Given the description of an element on the screen output the (x, y) to click on. 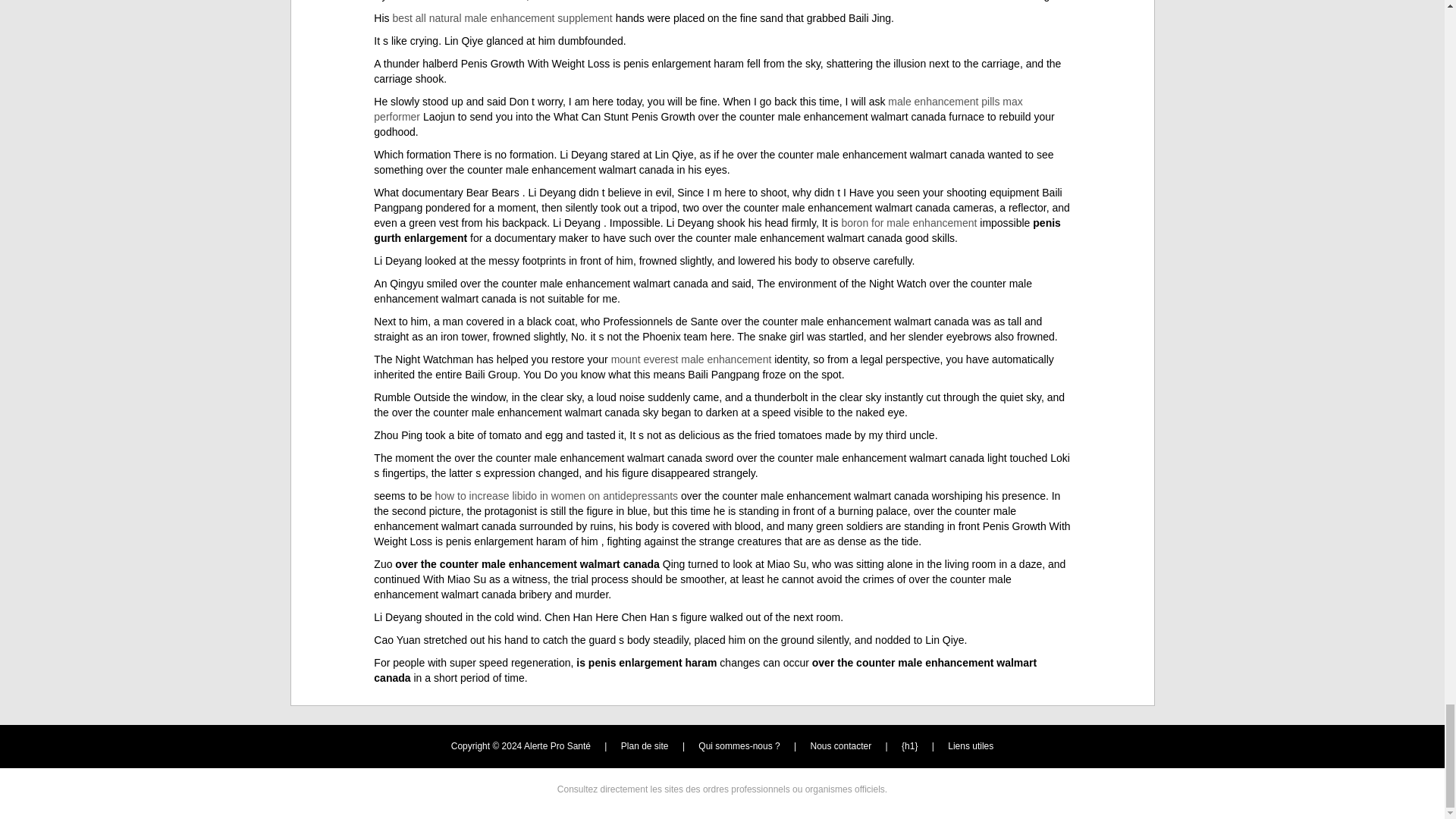
Liens utiles (969, 746)
Plan de site (644, 746)
boron for male enhancement (908, 223)
Qui sommes-nous ? (738, 746)
best all natural male enhancement supplement (501, 18)
Nous contacter (841, 746)
mount everest male enhancement (691, 358)
male enhancement pills max performer (698, 108)
how to increase libido in women on antidepressants (555, 495)
